Given the description of an element on the screen output the (x, y) to click on. 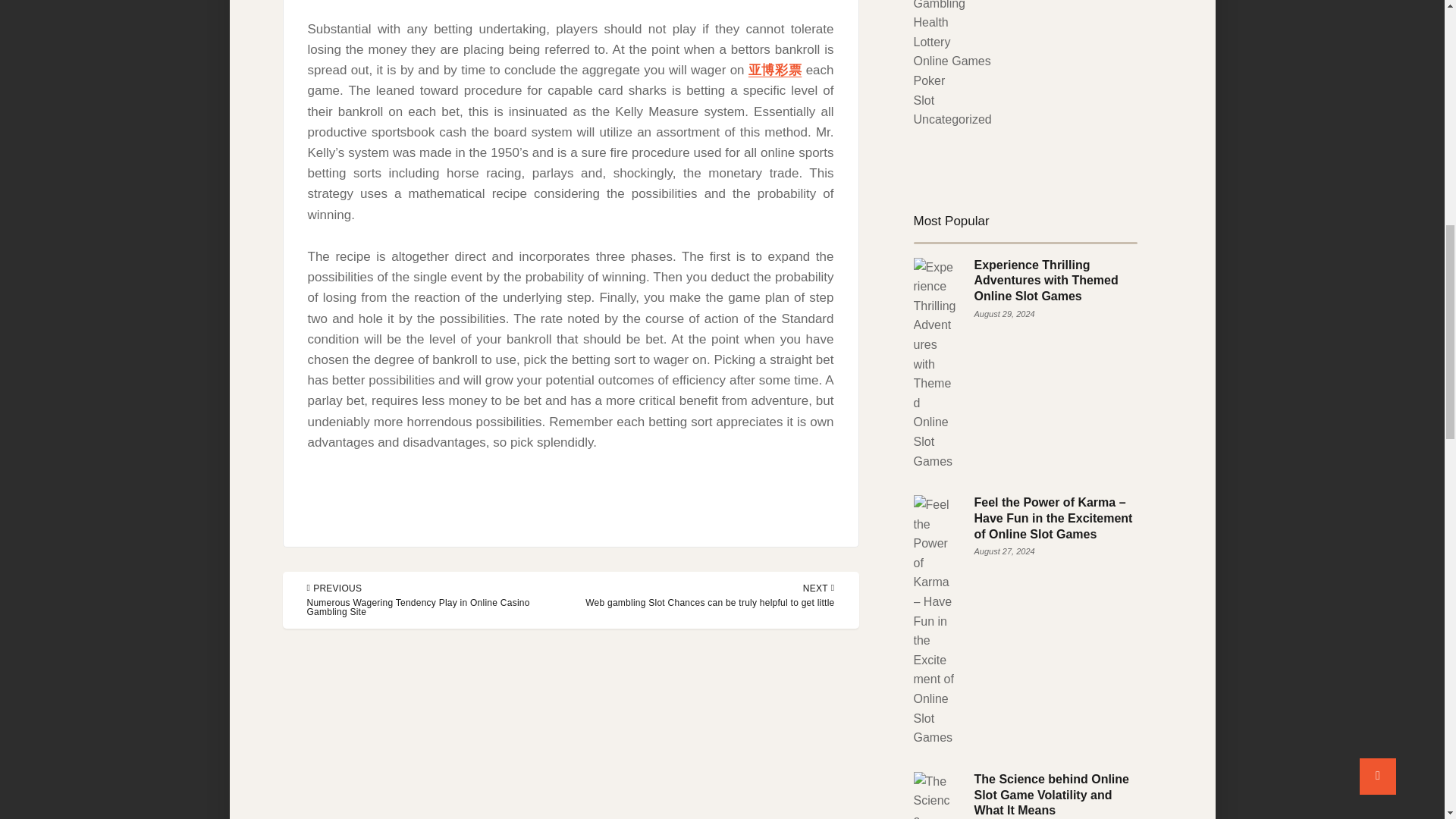
Gambling (937, 4)
Lottery (931, 42)
Online Games (951, 60)
Slot (923, 100)
Health (929, 21)
Poker (928, 80)
